Given the description of an element on the screen output the (x, y) to click on. 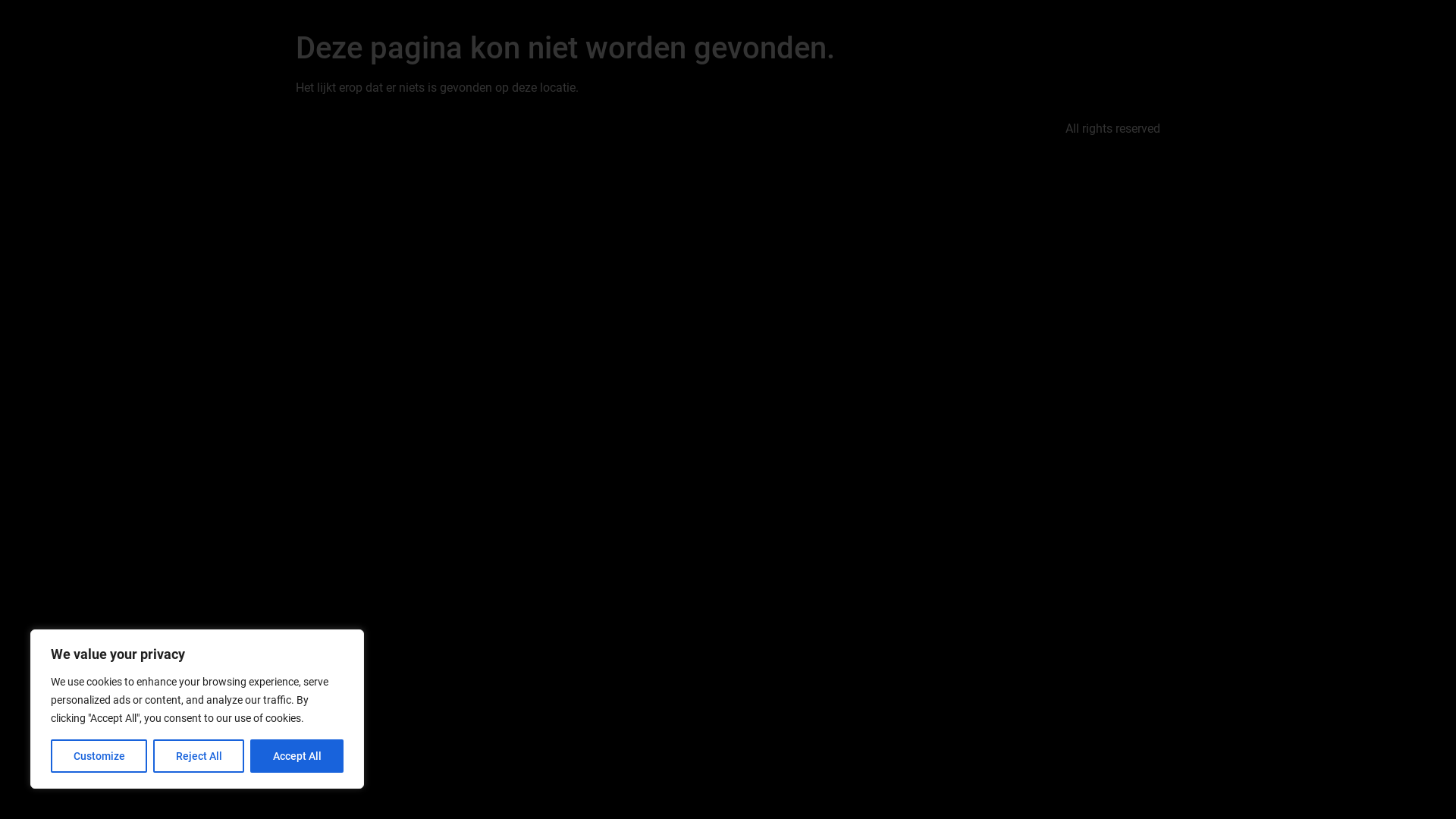
Customize Element type: text (98, 755)
Reject All Element type: text (198, 755)
Accept All Element type: text (296, 755)
